Given the description of an element on the screen output the (x, y) to click on. 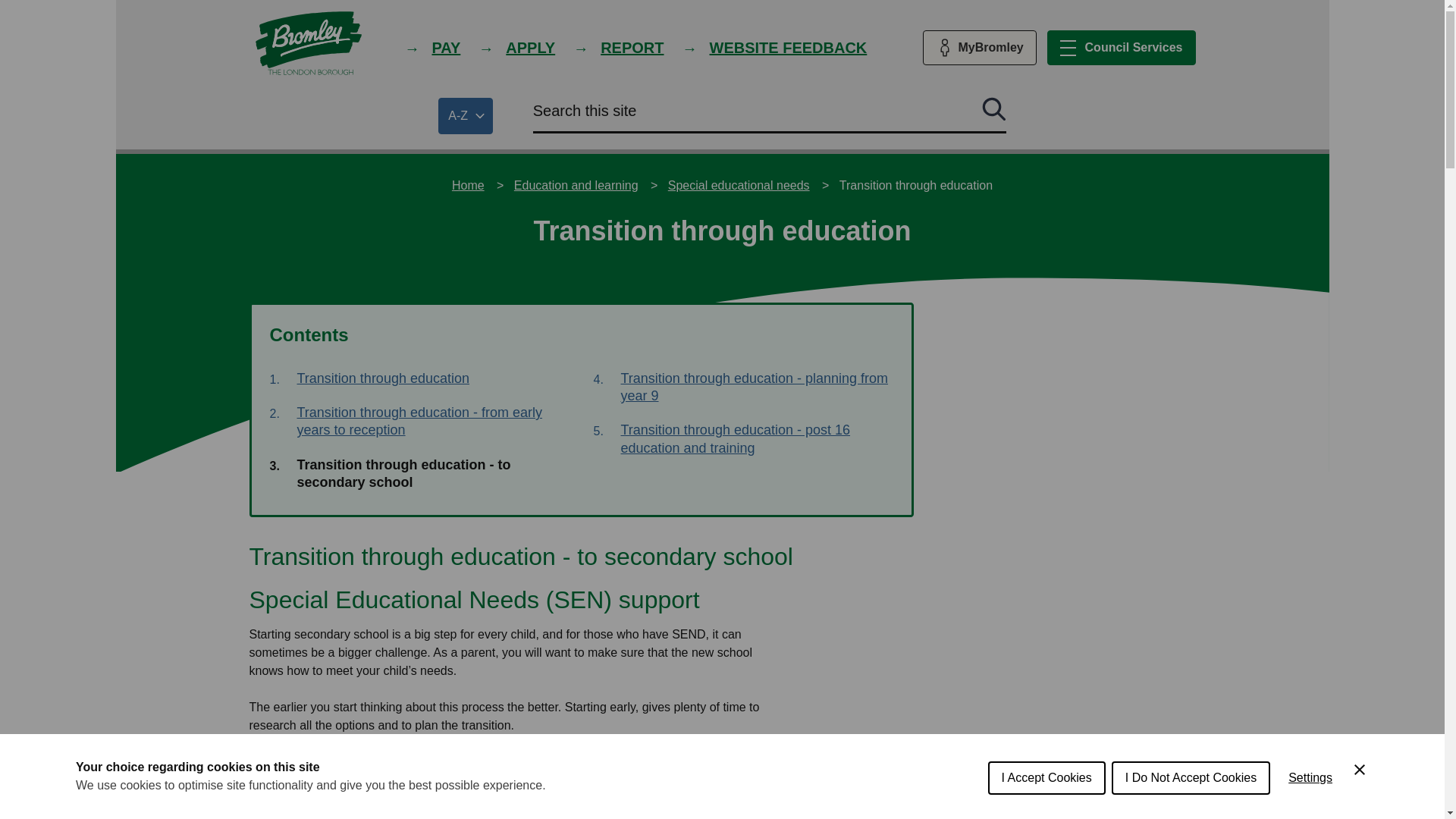
I Accept Cookies (1046, 780)
PAY (465, 115)
London Borough of Bromley Home Page (432, 47)
I Do Not Accept Cookies (308, 43)
Settings (1190, 779)
MyBromley (1309, 778)
Council Services (978, 47)
REPORT (1120, 47)
WEBSITE FEEDBACK (618, 47)
APPLY (774, 47)
